Given the description of an element on the screen output the (x, y) to click on. 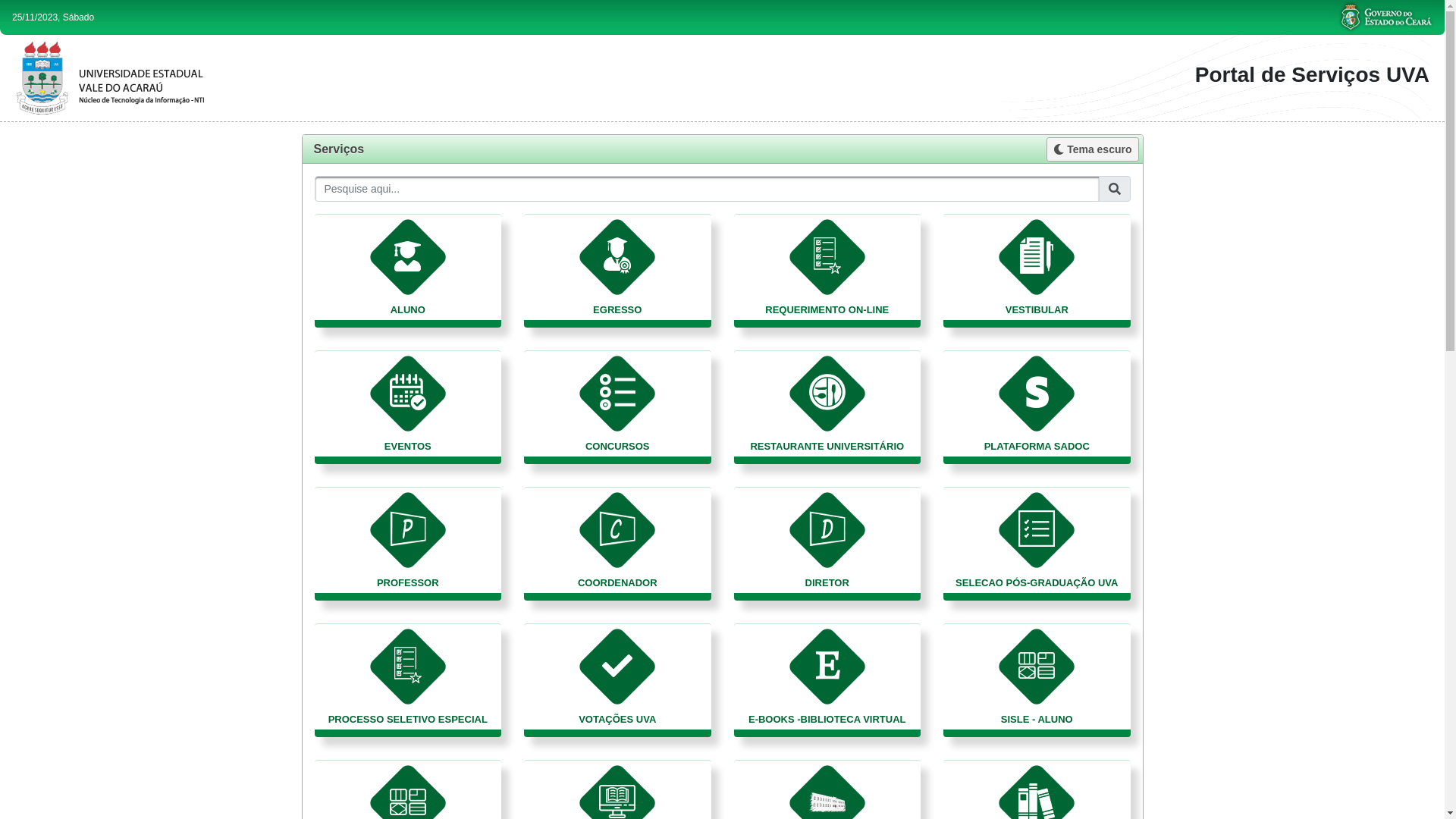
EGRESSO Element type: text (617, 270)
DIRETOR Element type: text (827, 543)
CONCURSOS Element type: text (617, 407)
REQUERIMENTO ON-LINE Element type: text (827, 270)
PROCESSO SELETIVO ESPECIAL Element type: text (407, 680)
Tema escuro Element type: text (1092, 149)
PROFESSOR Element type: text (407, 543)
COORDENADOR Element type: text (617, 543)
PLATAFORMA SADOC Element type: text (1036, 407)
VESTIBULAR Element type: text (1036, 270)
EVENTOS Element type: text (407, 407)
E-BOOKS -BIBLIOTECA VIRTUAL Element type: text (827, 680)
SISLE - ALUNO Element type: text (1036, 680)
ALUNO Element type: text (407, 270)
